Given the description of an element on the screen output the (x, y) to click on. 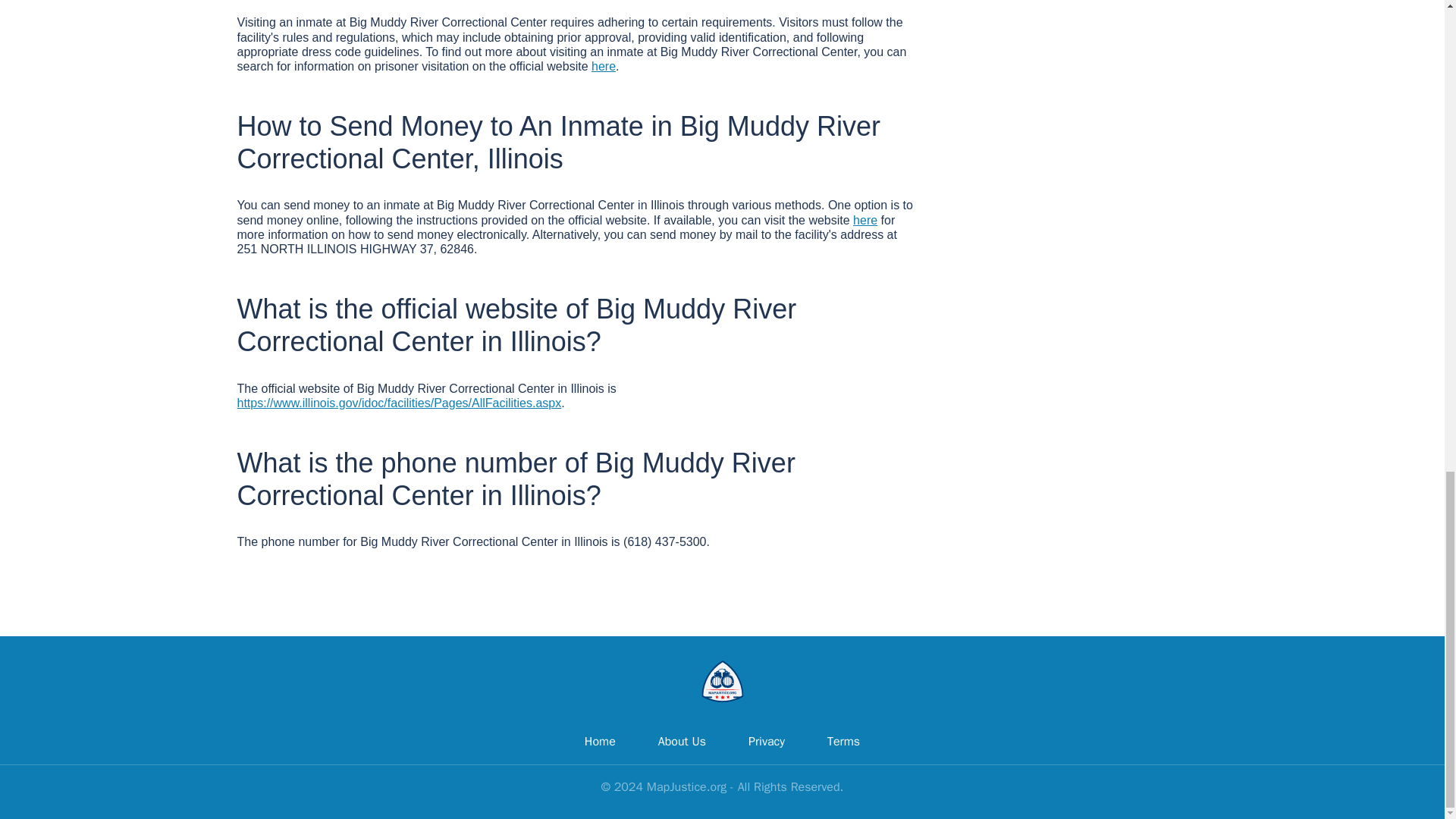
here (603, 65)
Home (599, 741)
About Us (681, 741)
here (865, 219)
Privacy (766, 741)
Terms (843, 741)
